Given the description of an element on the screen output the (x, y) to click on. 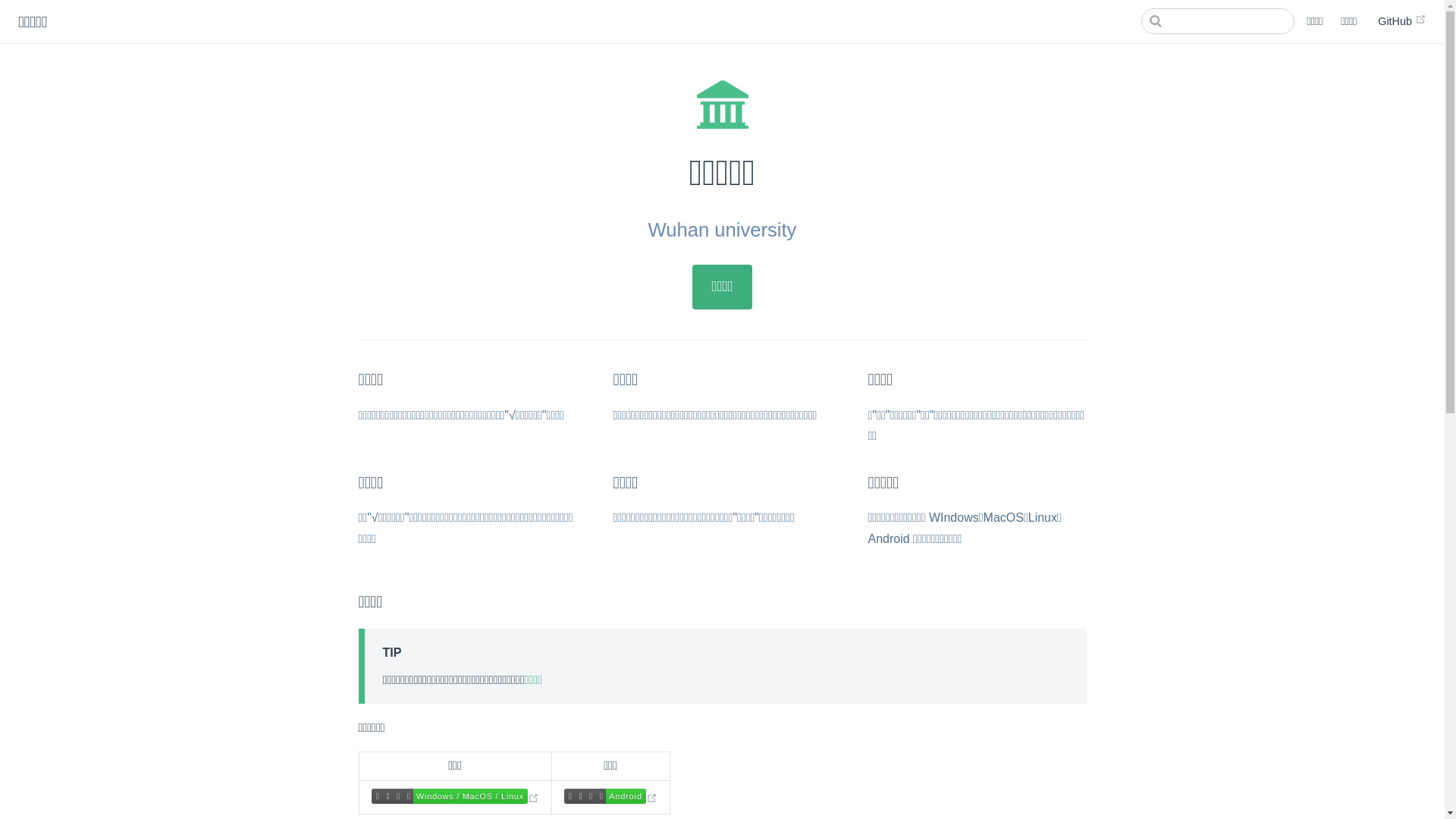
GitHub Element type: text (1401, 20)
